Given the description of an element on the screen output the (x, y) to click on. 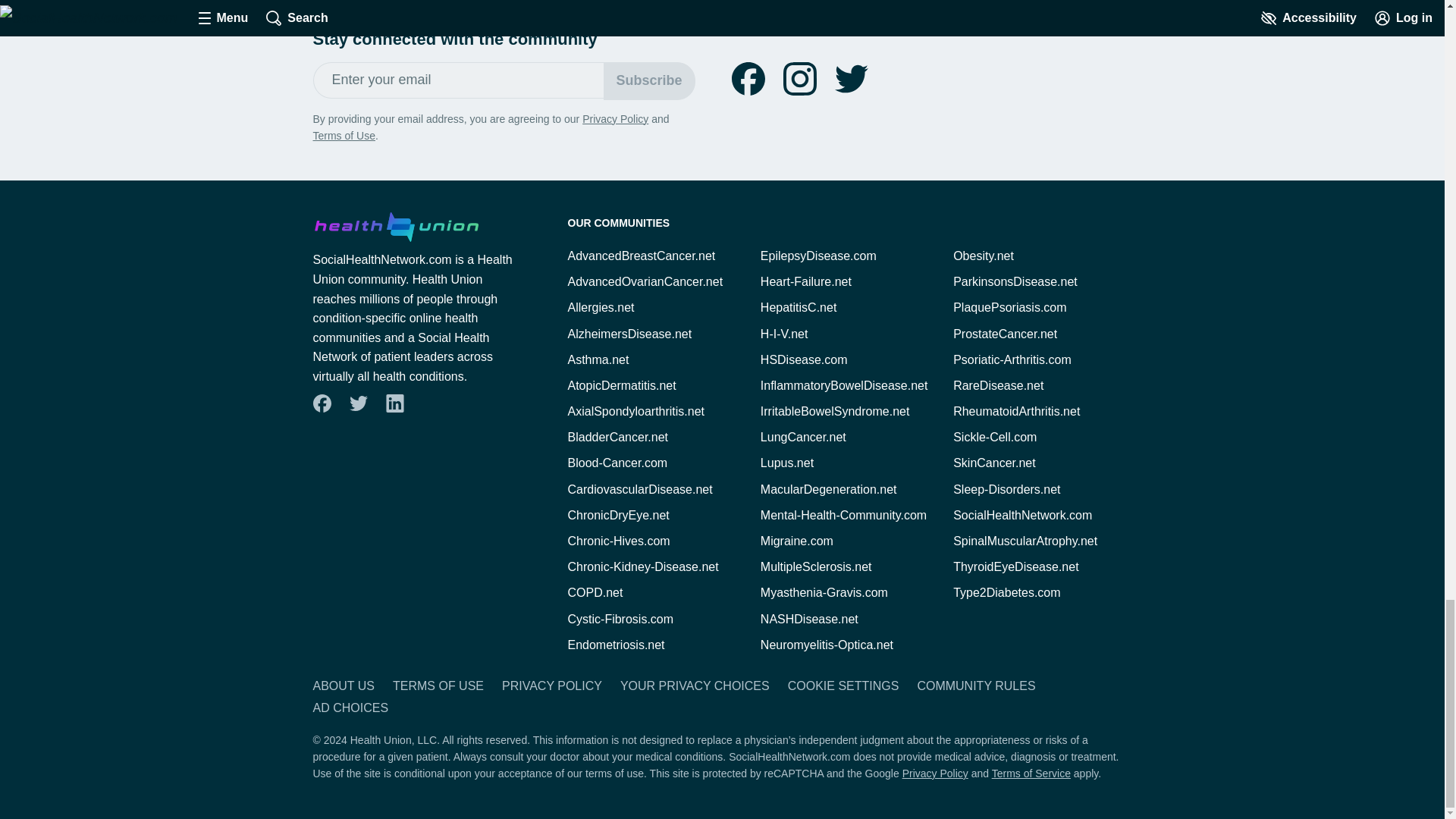
Follow us on facebook (747, 78)
Follow us on twitter (850, 78)
Follow us on instagram (799, 78)
Subscribe (649, 80)
Privacy Policy (614, 119)
Terms of Use (343, 135)
Follow us on instagram (799, 78)
Follow us on facebook (747, 78)
Follow us on facebook (321, 402)
